Given the description of an element on the screen output the (x, y) to click on. 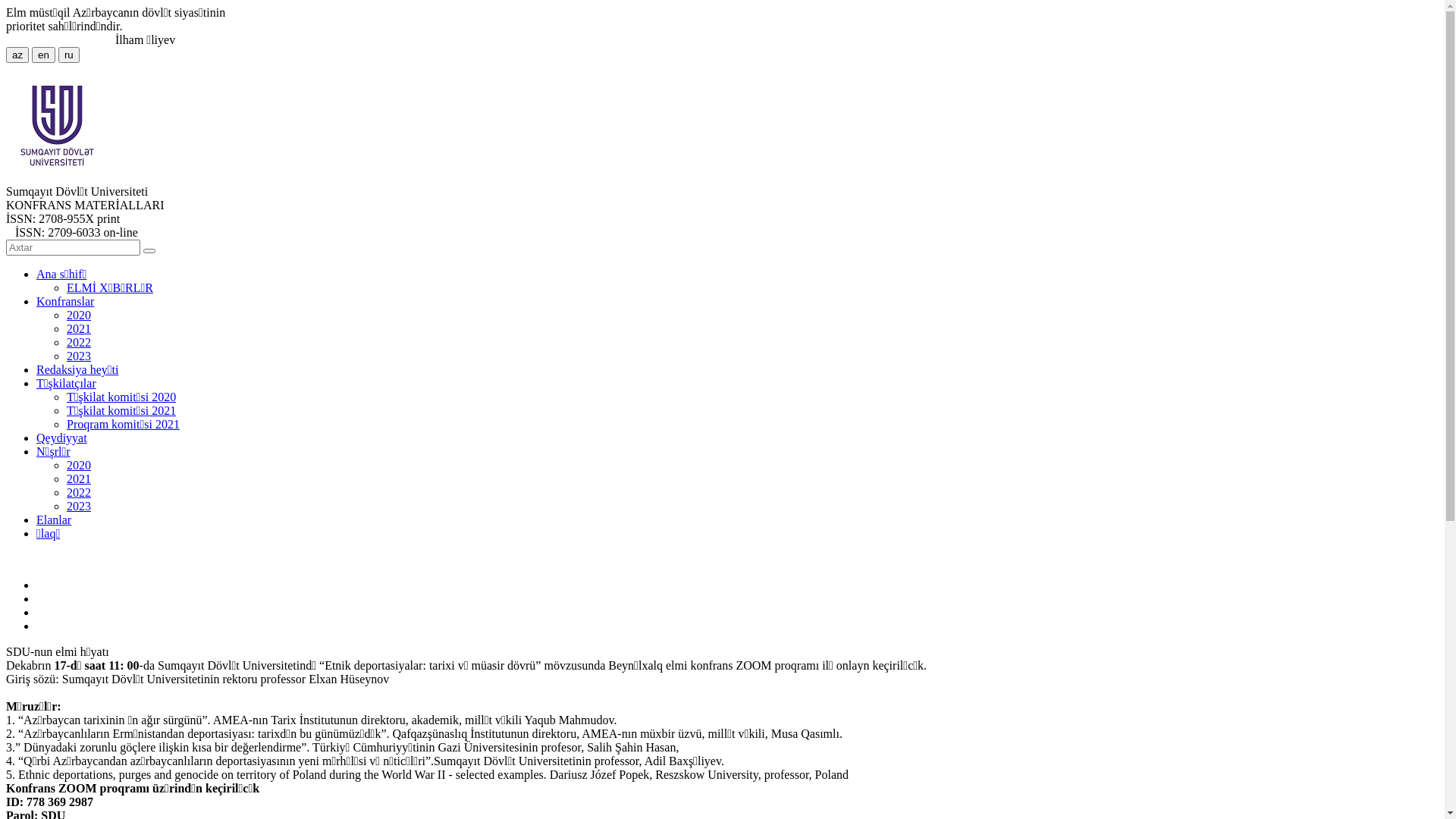
2022 Element type: text (78, 492)
2023 Element type: text (78, 505)
2020 Element type: text (78, 314)
2021 Element type: text (78, 328)
az Element type: text (17, 54)
2022 Element type: text (78, 341)
en Element type: text (43, 54)
Konfranslar Element type: text (65, 300)
Elanlar Element type: text (53, 519)
ru Element type: text (68, 54)
2020 Element type: text (78, 464)
2023 Element type: text (78, 355)
2021 Element type: text (78, 478)
Qeydiyyat Element type: text (61, 437)
